Given the description of an element on the screen output the (x, y) to click on. 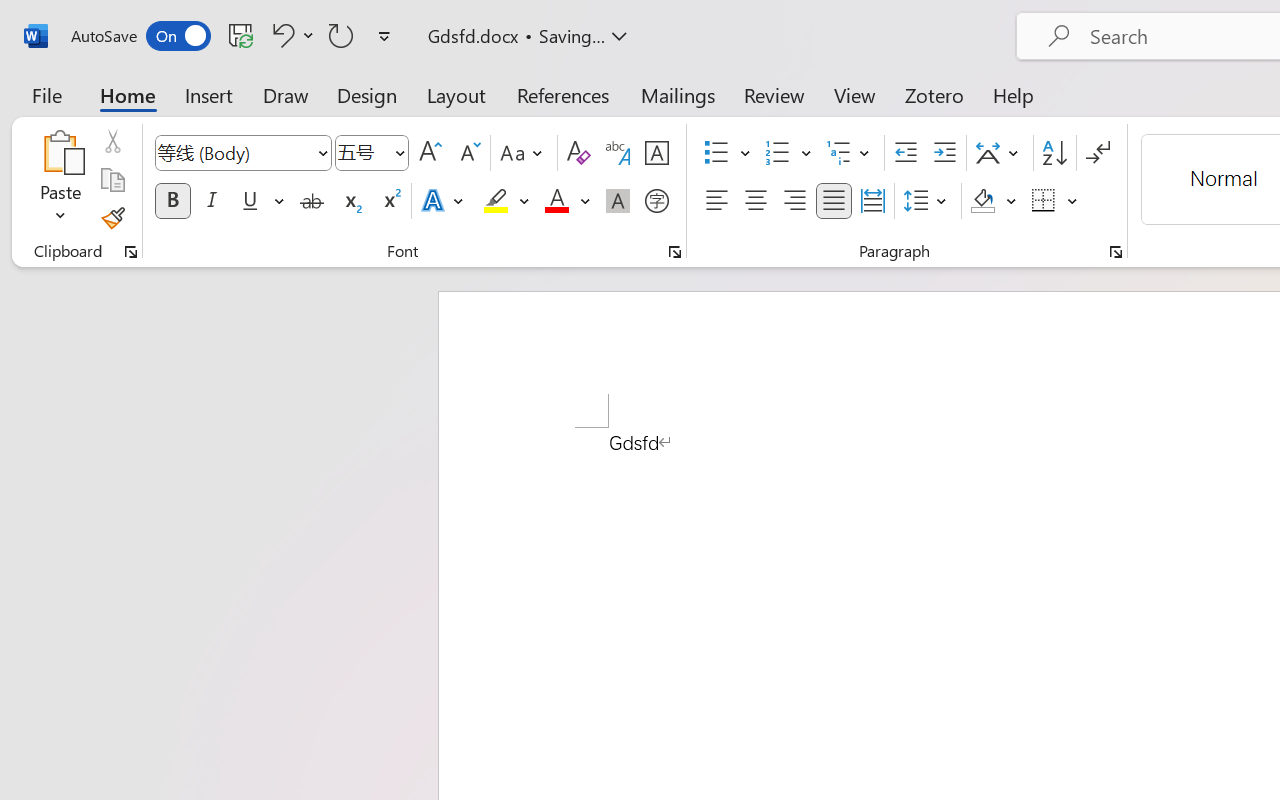
Decrease Indent (906, 153)
Change Case (524, 153)
Repeat Style (341, 35)
Justify (834, 201)
Line and Paragraph Spacing (927, 201)
Character Border (656, 153)
Asian Layout (1000, 153)
Shading (993, 201)
